Given the description of an element on the screen output the (x, y) to click on. 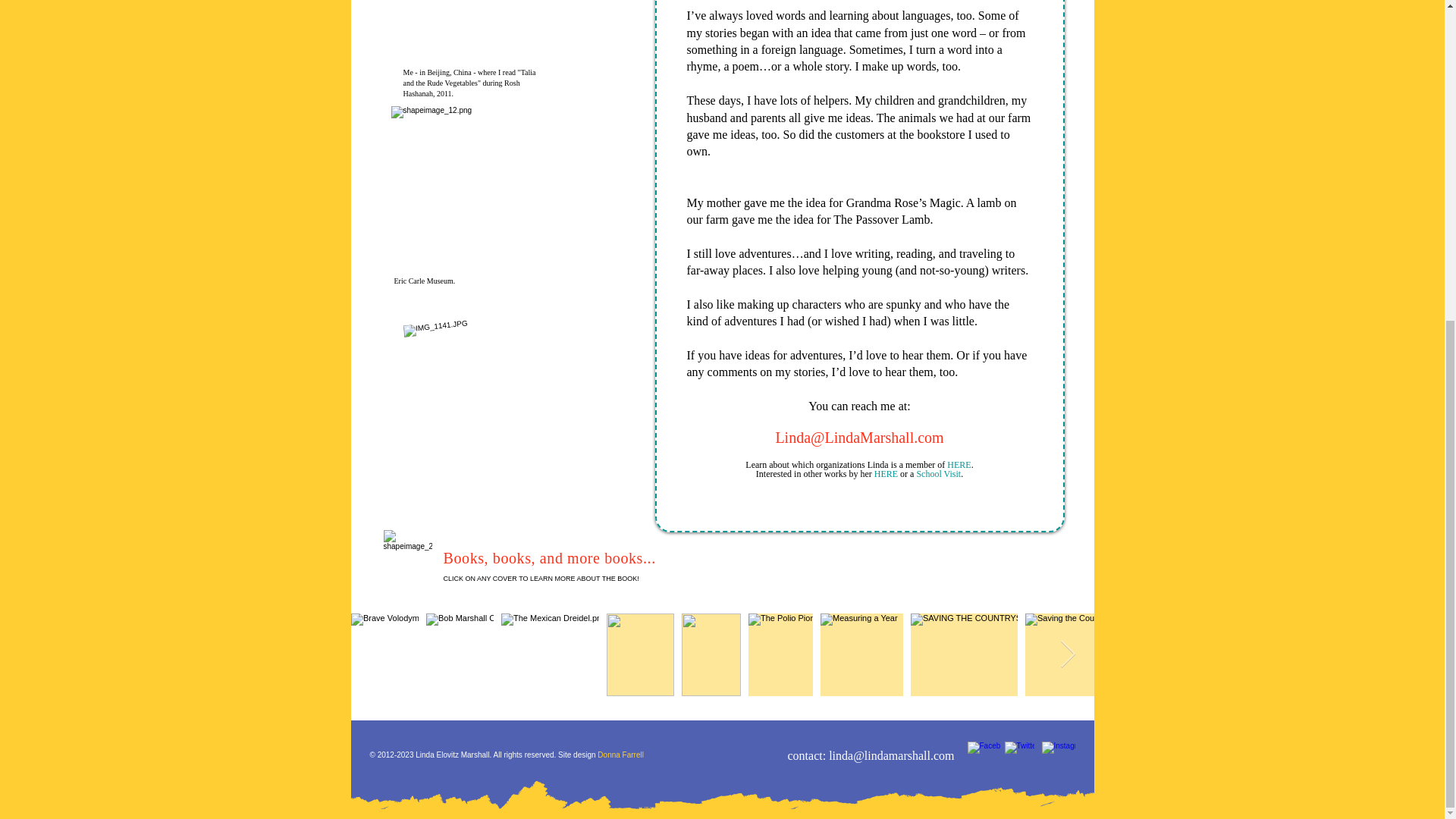
HERE (959, 464)
HERE (886, 473)
Donna Farrell (619, 755)
too (947, 371)
School Visit (937, 473)
